Given the description of an element on the screen output the (x, y) to click on. 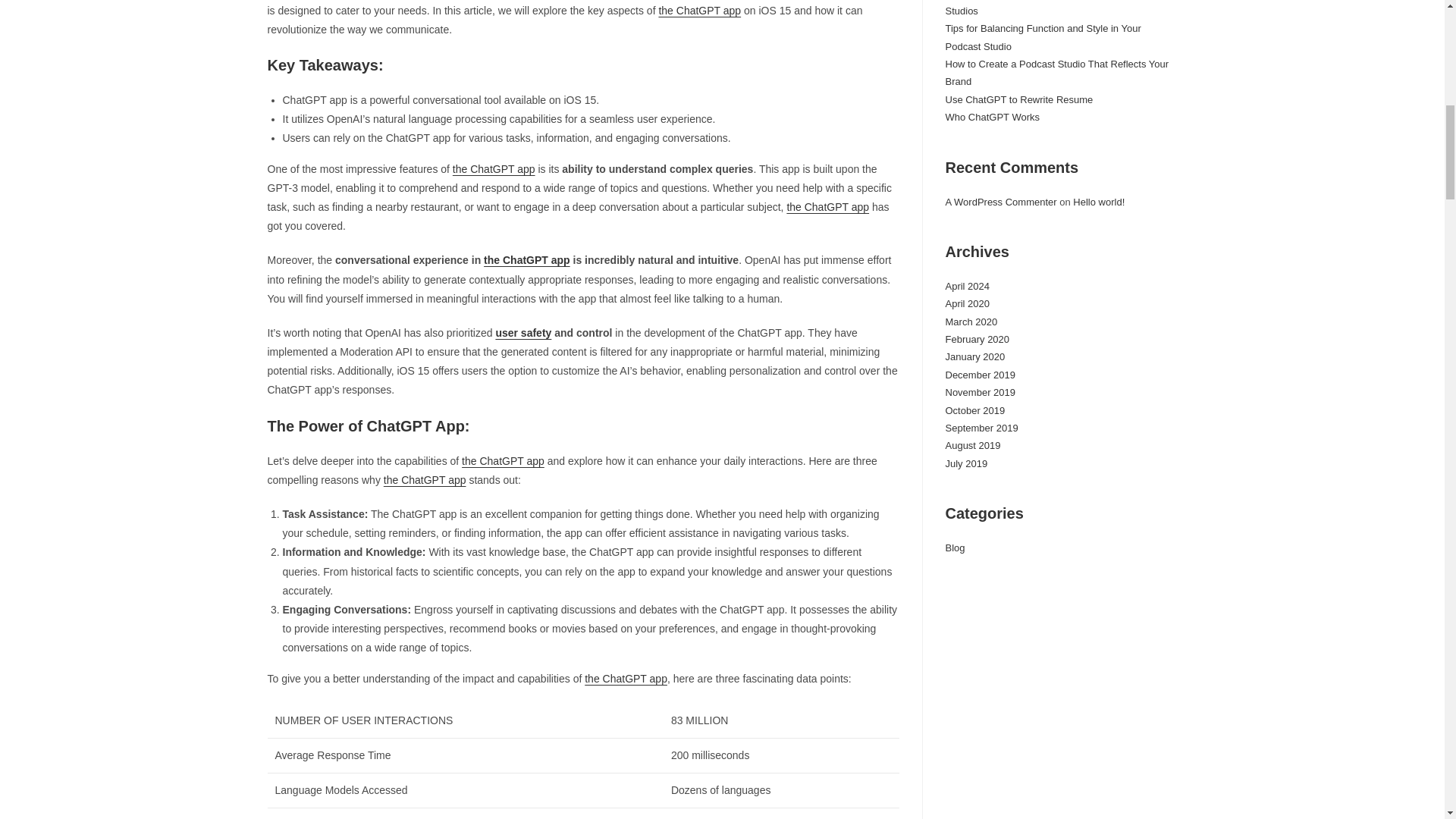
the ChatGPT app (625, 678)
user safety (523, 332)
the ChatGPT app (502, 460)
the ChatGPT app (424, 480)
the ChatGPT app (493, 168)
the ChatGPT app (827, 206)
the ChatGPT app (526, 259)
the ChatGPT app (699, 10)
